Given the description of an element on the screen output the (x, y) to click on. 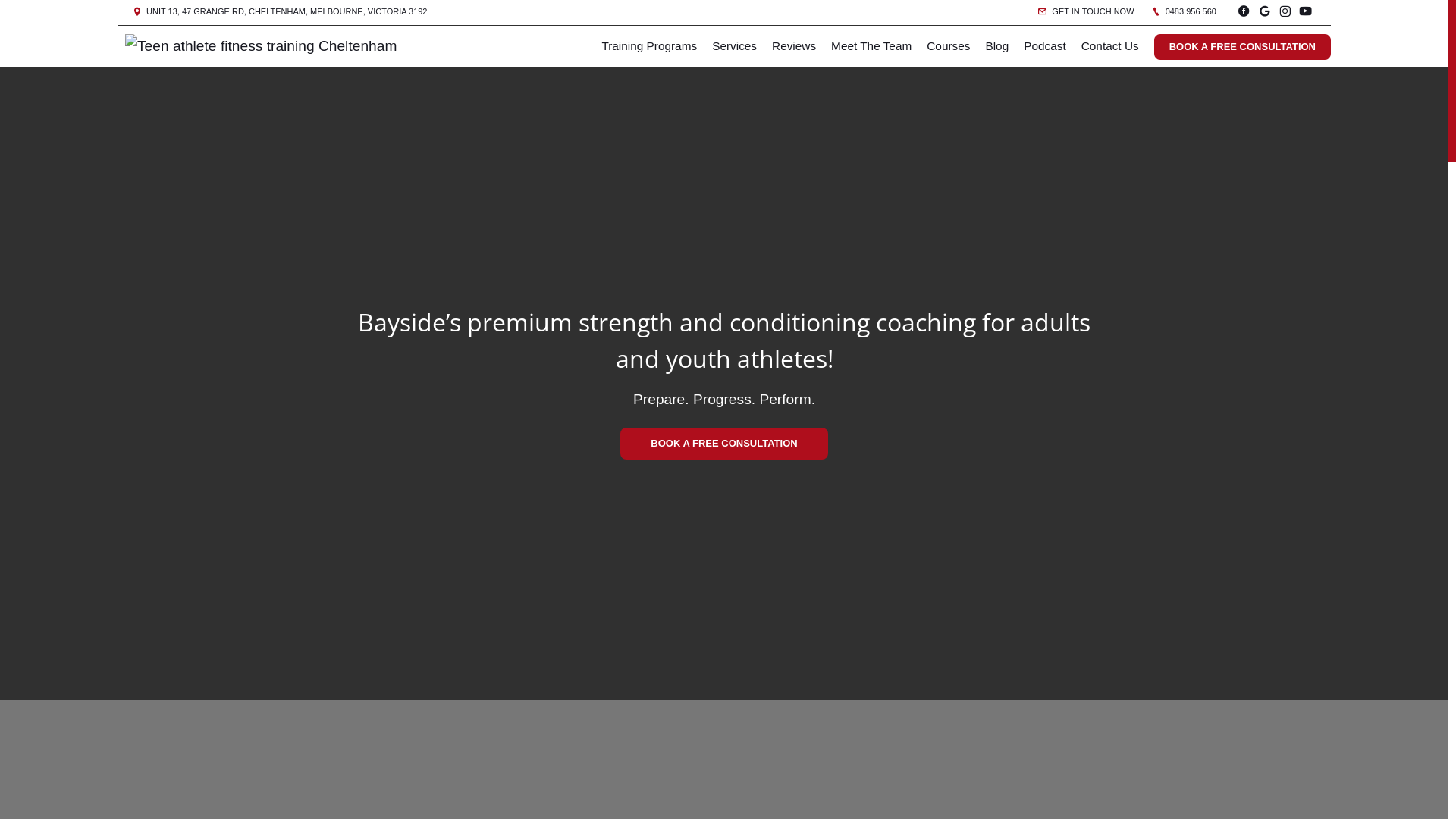
Training Programs Element type: text (648, 45)
Meet The Team Element type: text (871, 45)
Podcast Element type: text (1044, 45)
Services Element type: text (734, 45)
GET IN TOUCH NOW Element type: text (1085, 10)
Blog Element type: text (996, 45)
BOOK A FREE CONSULTATION Element type: text (1242, 46)
0483 956 560 Element type: text (1183, 10)
Contact Us Element type: text (1109, 45)
Courses Element type: text (948, 45)
BOOK A FREE CONSULTATION Element type: text (723, 443)
Reviews Element type: text (793, 45)
